Given the description of an element on the screen output the (x, y) to click on. 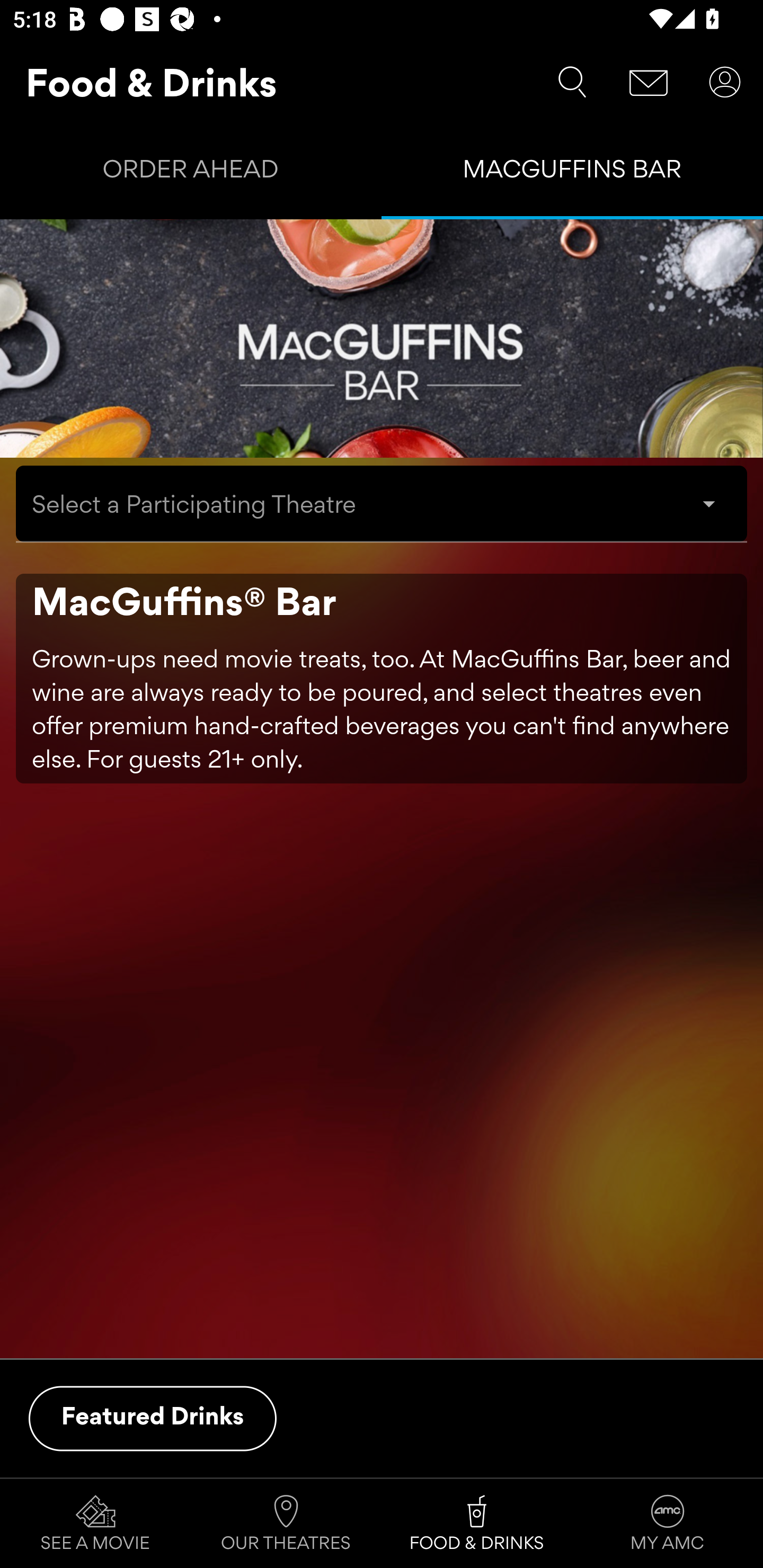
Search (572, 82)
Message Center (648, 82)
User Account (724, 82)
ORDER AHEAD
Tab 1 of 2 (190, 173)
MACGUFFINS BAR
Tab 2 of 2 (572, 173)
Featured Drinks (152, 1417)
SEE A MOVIE
Tab 1 of 4 (95, 1523)
OUR THEATRES
Tab 2 of 4 (285, 1523)
FOOD & DRINKS
Tab 3 of 4 (476, 1523)
MY AMC
Tab 4 of 4 (667, 1523)
